Given the description of an element on the screen output the (x, y) to click on. 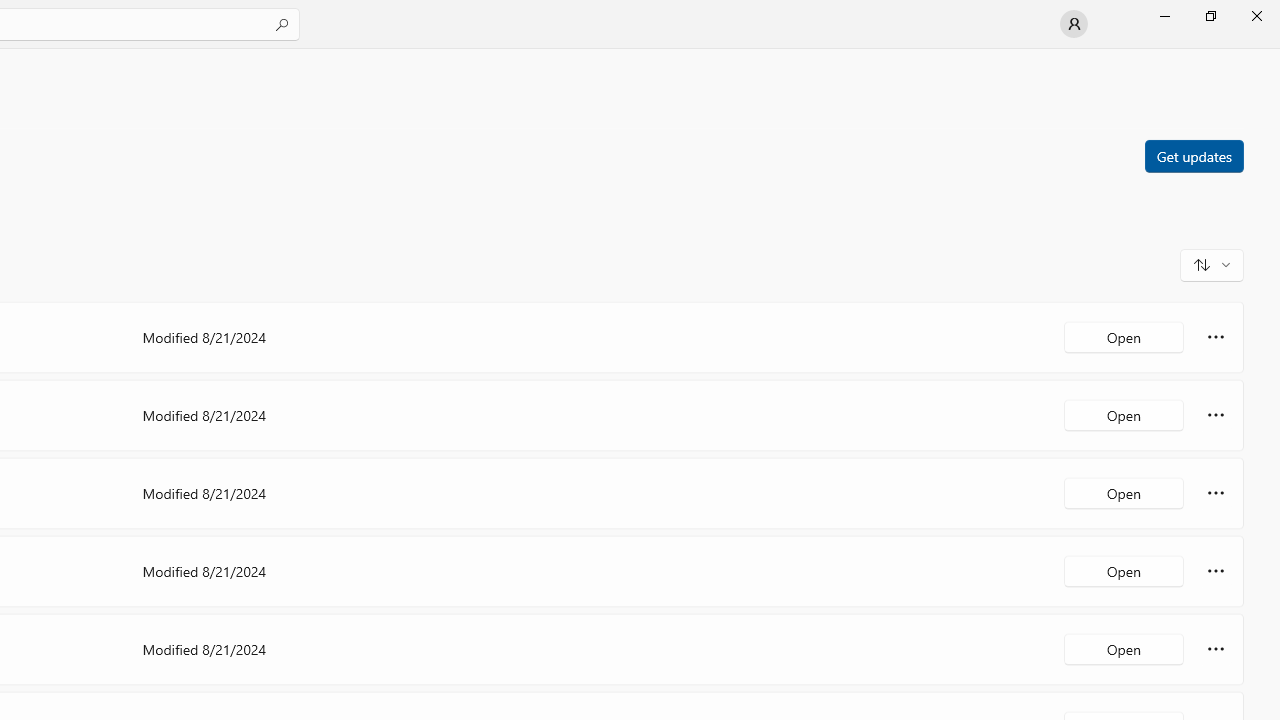
Open (1123, 648)
Sort and filter (1212, 263)
Close Microsoft Store (1256, 15)
Get updates (1193, 155)
Restore Microsoft Store (1210, 15)
More options (1215, 648)
Minimize Microsoft Store (1164, 15)
User profile (1073, 24)
